Given the description of an element on the screen output the (x, y) to click on. 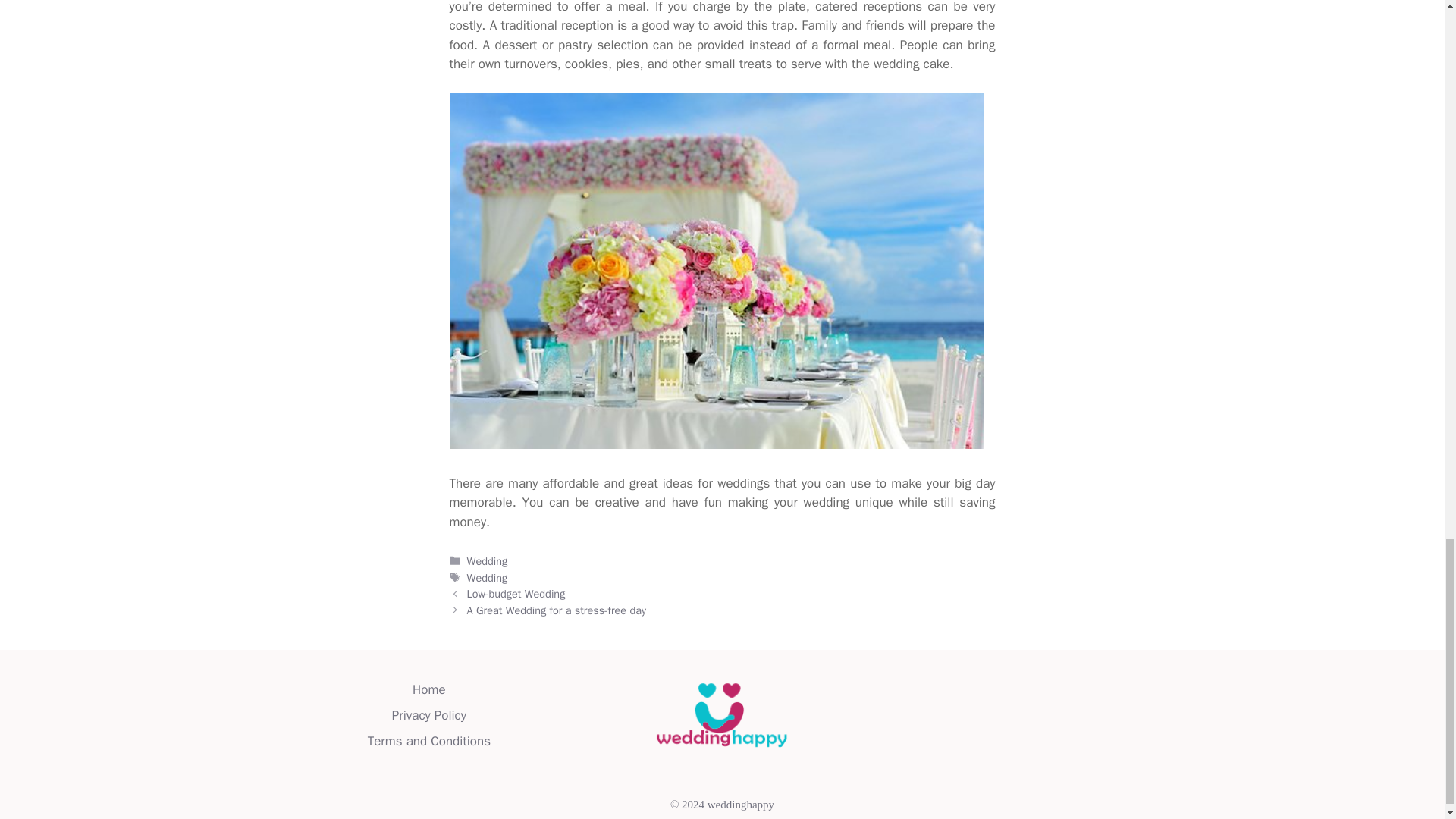
Privacy Policy (428, 715)
Low-budget Wedding (516, 593)
Wedding (487, 577)
Home (428, 689)
A Great Wedding for a stress-free day (556, 610)
Wedding (487, 561)
Terms and Conditions (429, 741)
